Given the description of an element on the screen output the (x, y) to click on. 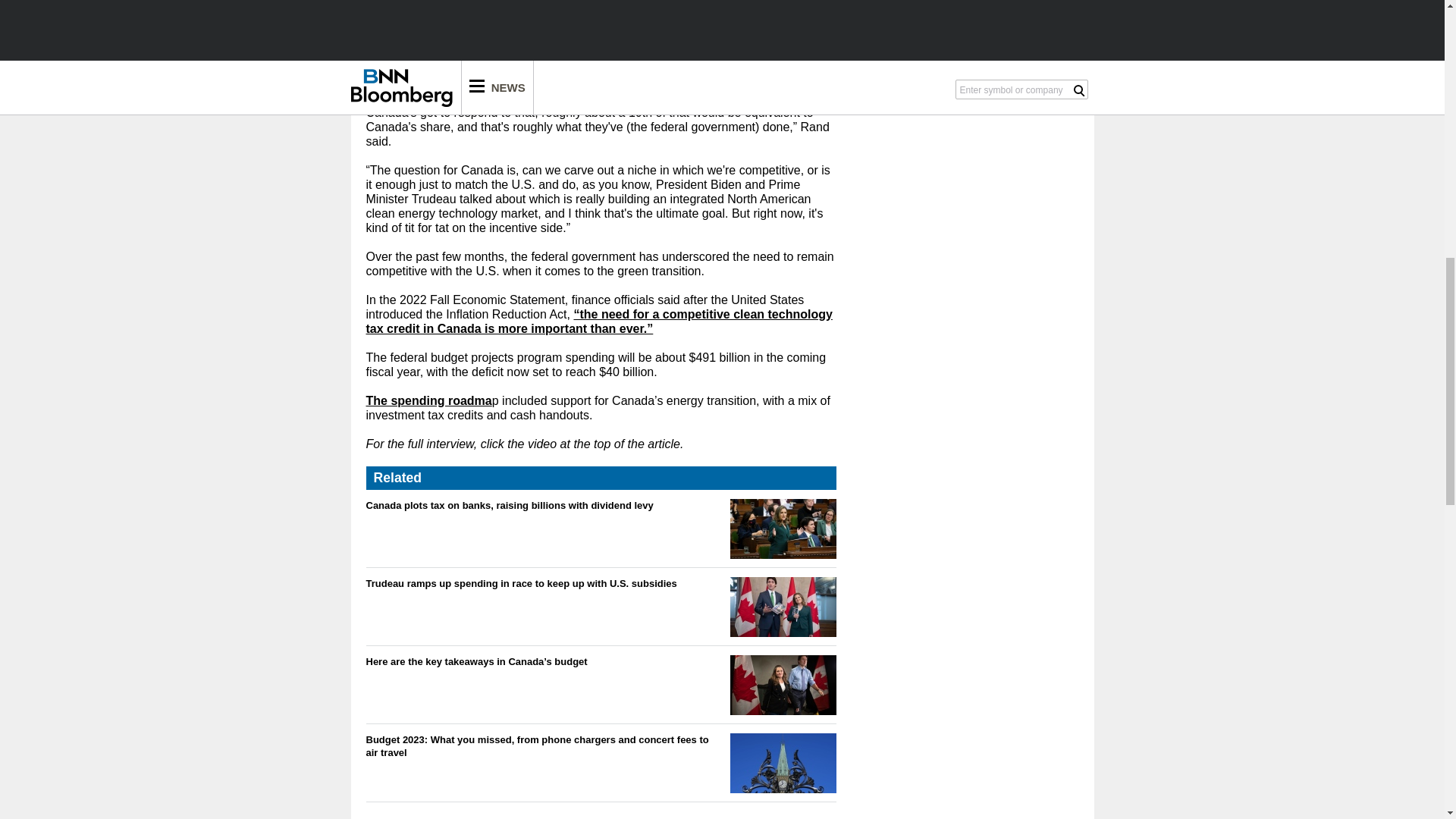
Ottawa (782, 763)
Chrystia Freeland, Justin Trudeau (782, 684)
freeland (782, 528)
